Given the description of an element on the screen output the (x, y) to click on. 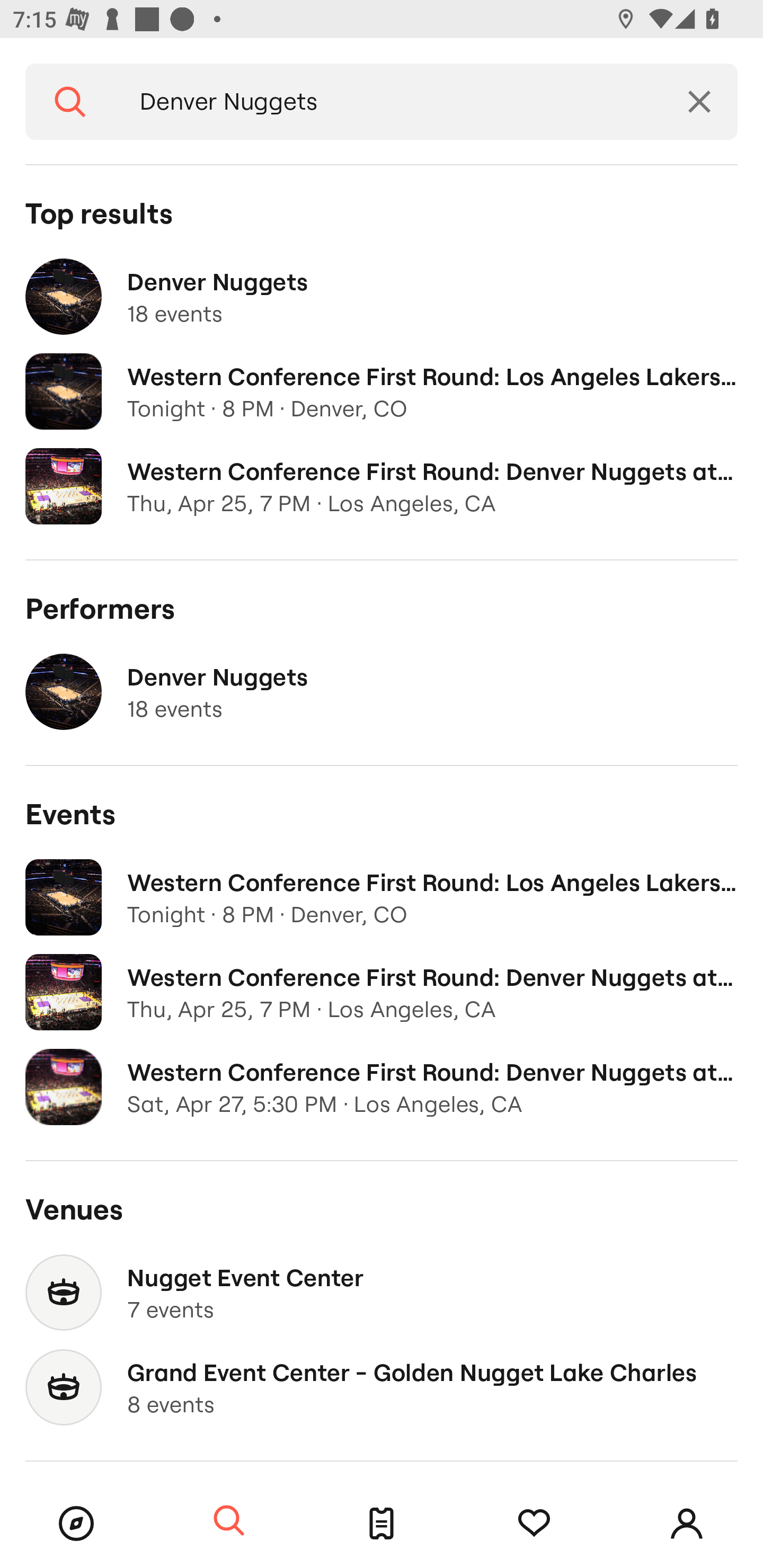
Search (69, 101)
Denver Nuggets (387, 101)
Clear (699, 101)
Denver Nuggets 18 events (381, 296)
Denver Nuggets 18 events (381, 692)
Nugget Event Center 7 events (381, 1292)
Browse (76, 1523)
Search (228, 1521)
Tickets (381, 1523)
Tracking (533, 1523)
Account (686, 1523)
